Given the description of an element on the screen output the (x, y) to click on. 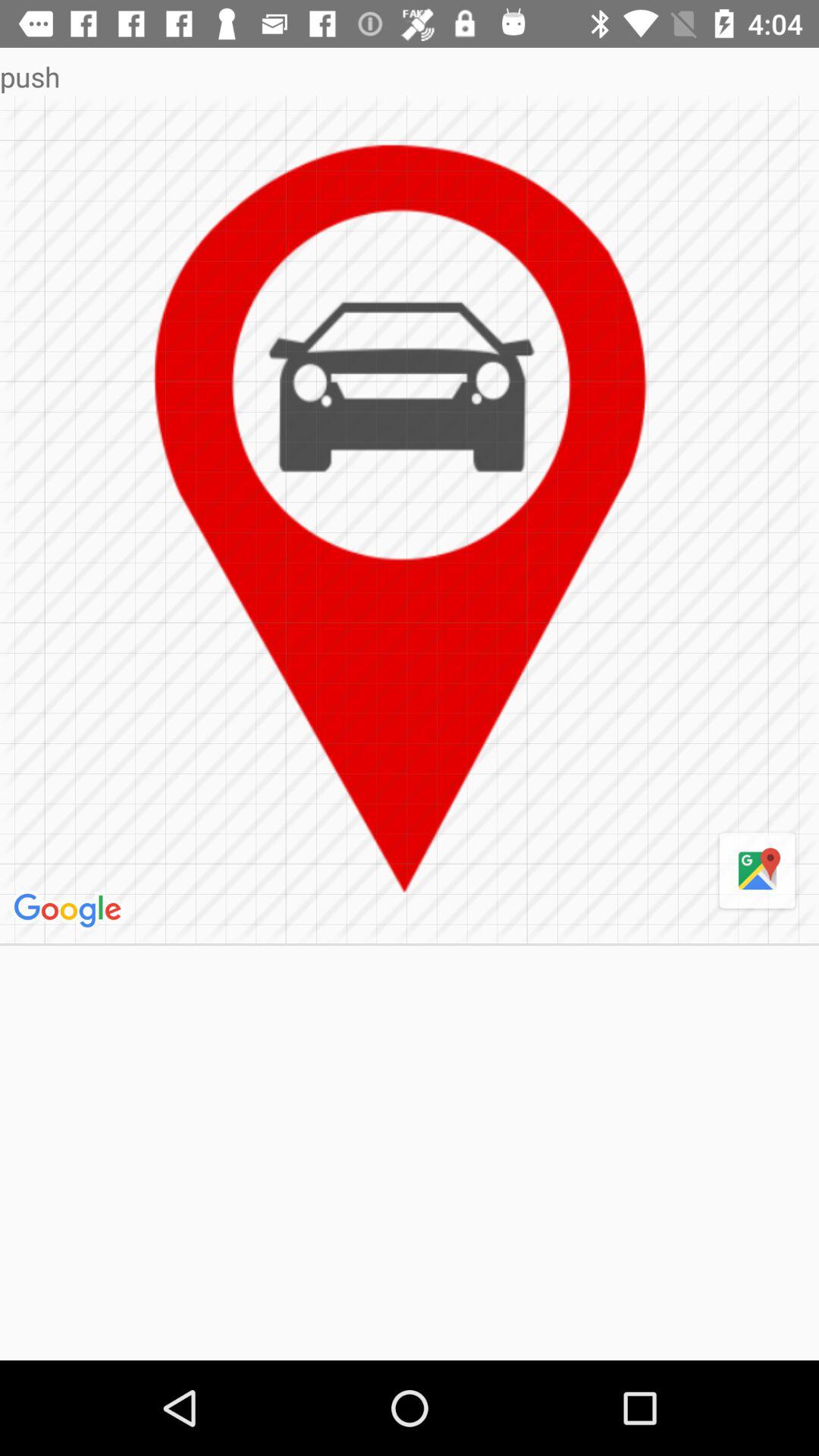
press the push item (409, 76)
